Given the description of an element on the screen output the (x, y) to click on. 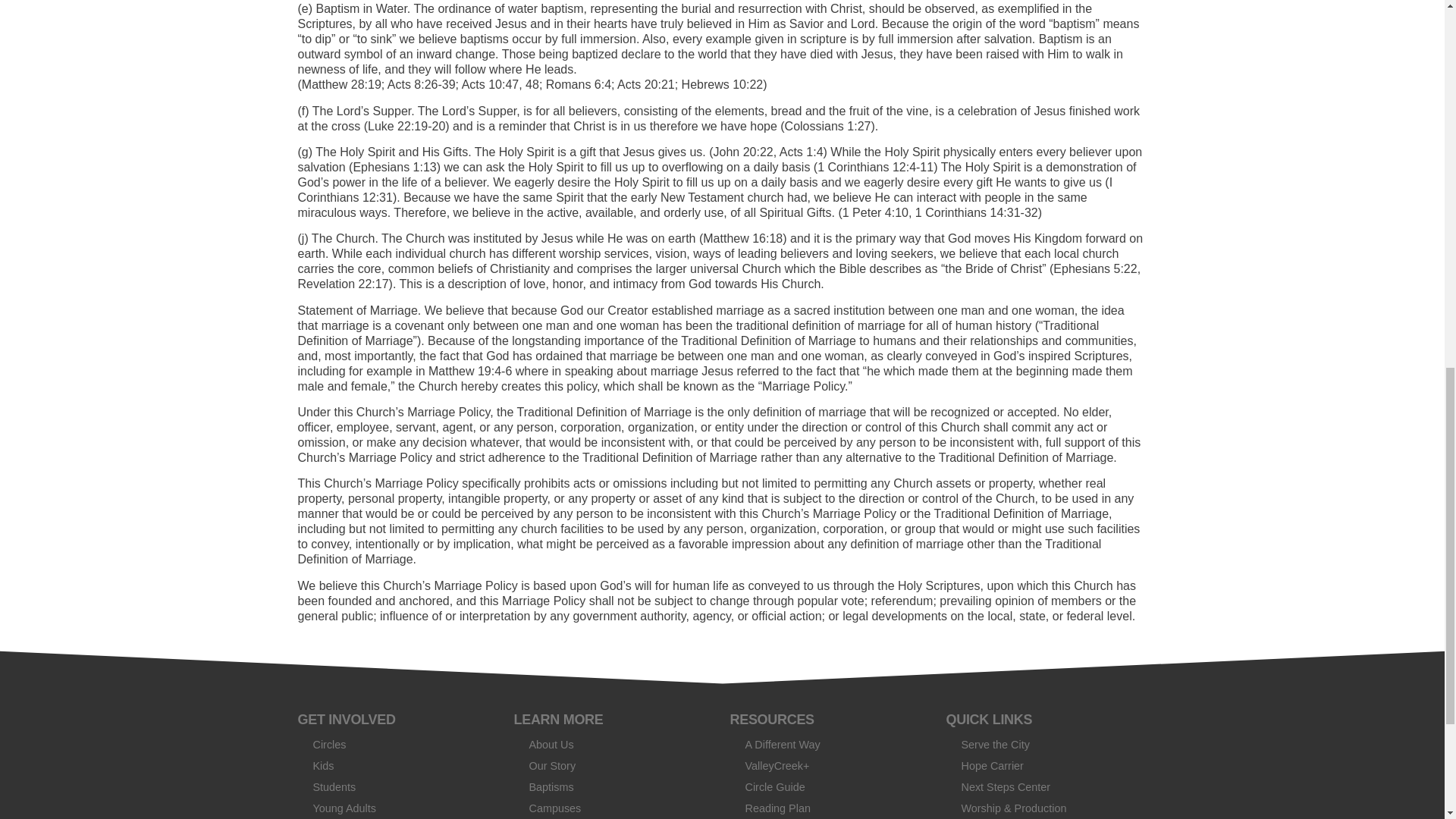
Baptisms (613, 786)
Young Adults (397, 808)
Circles (397, 744)
About Us (613, 744)
Our Story (613, 765)
Kids (397, 765)
Students (397, 786)
Campuses (613, 808)
A Different Way (829, 744)
